Given the description of an element on the screen output the (x, y) to click on. 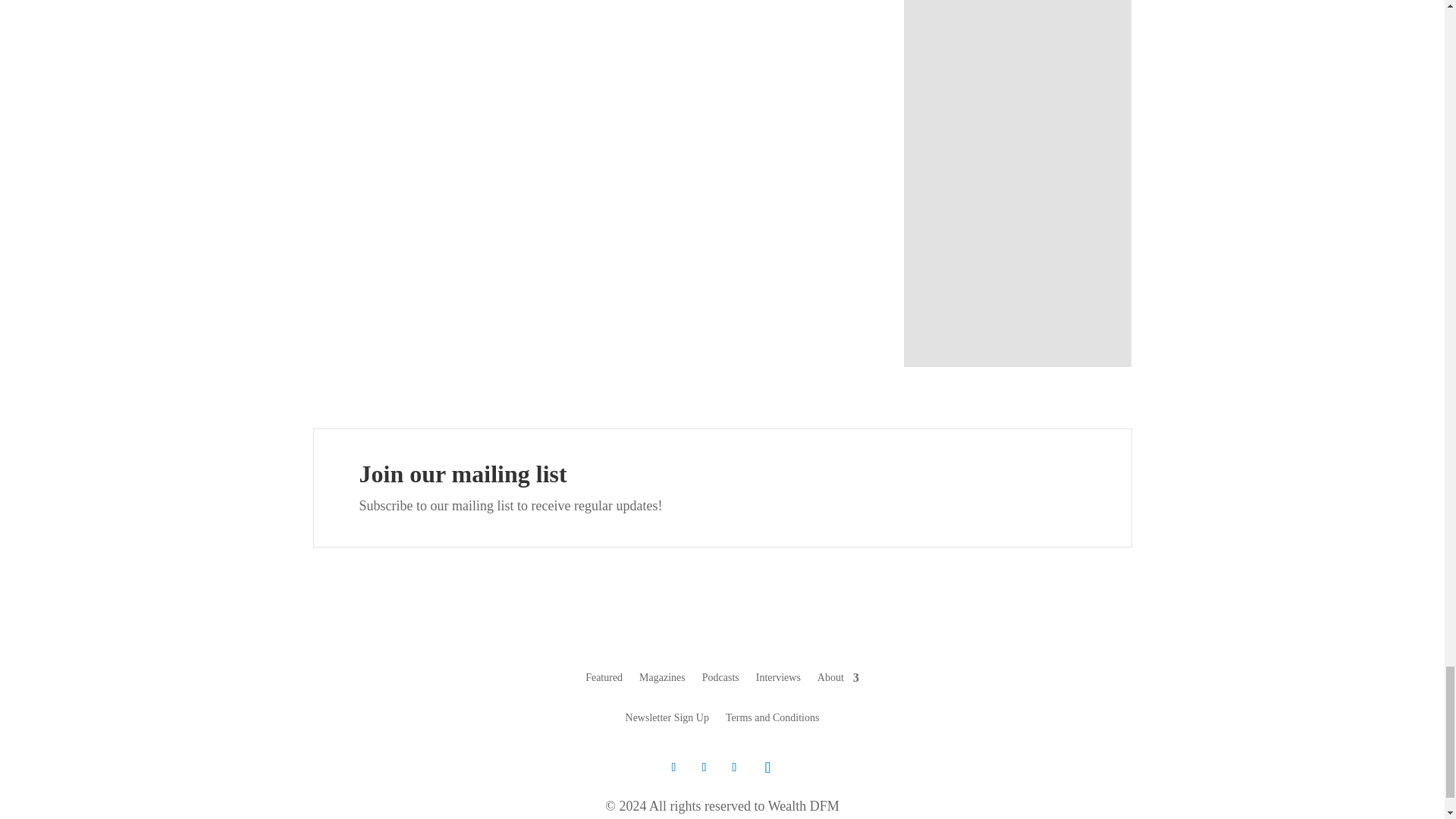
Newsletter Sign Up (667, 720)
Follow on X (673, 767)
Follow on Facebook (703, 767)
Follow on Instagram (767, 767)
Terms and Conditions (771, 720)
Follow on LinkedIn (733, 767)
